Given the description of an element on the screen output the (x, y) to click on. 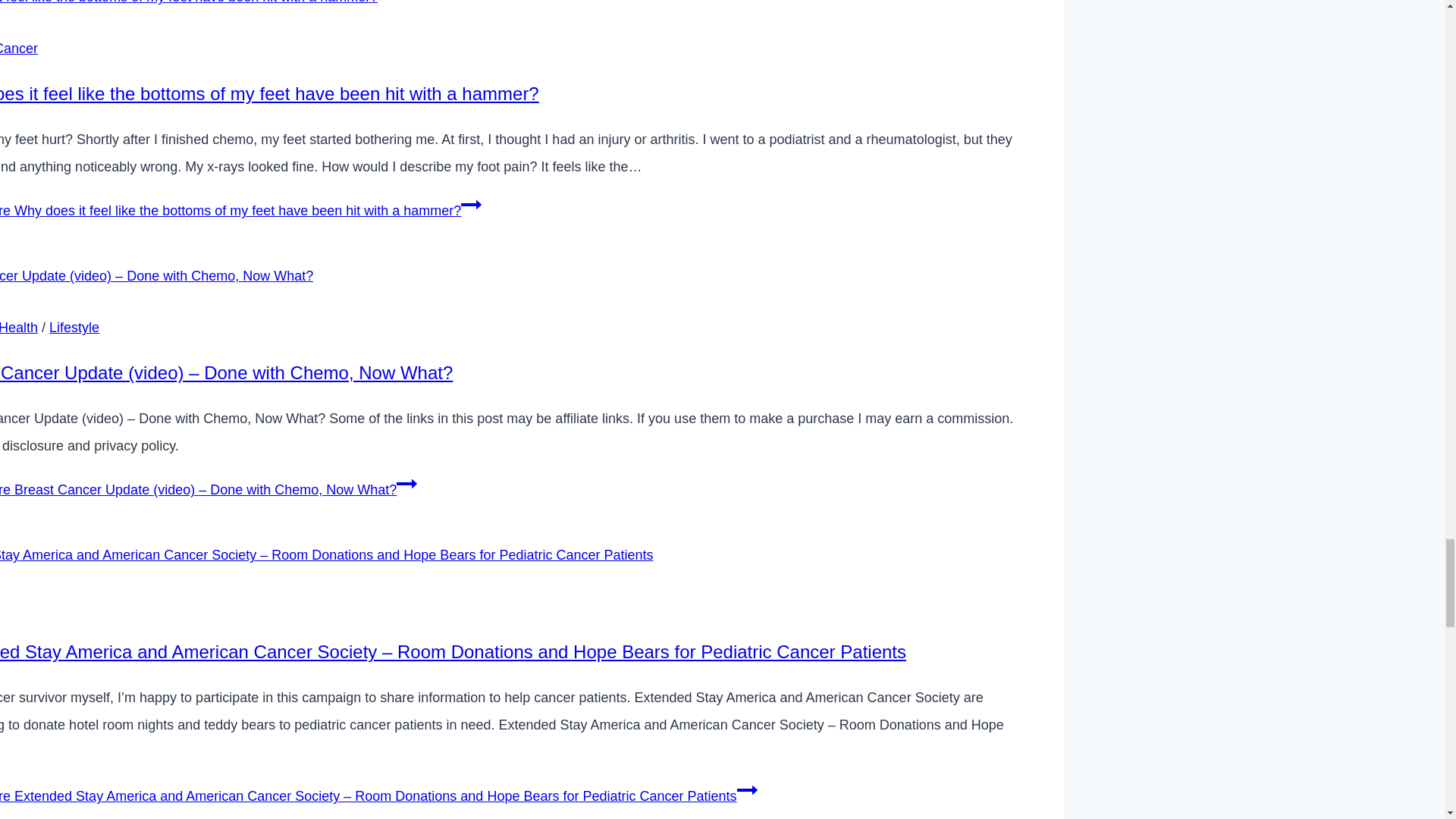
Continue (746, 789)
Continue (471, 204)
Continue (406, 483)
